Given the description of an element on the screen output the (x, y) to click on. 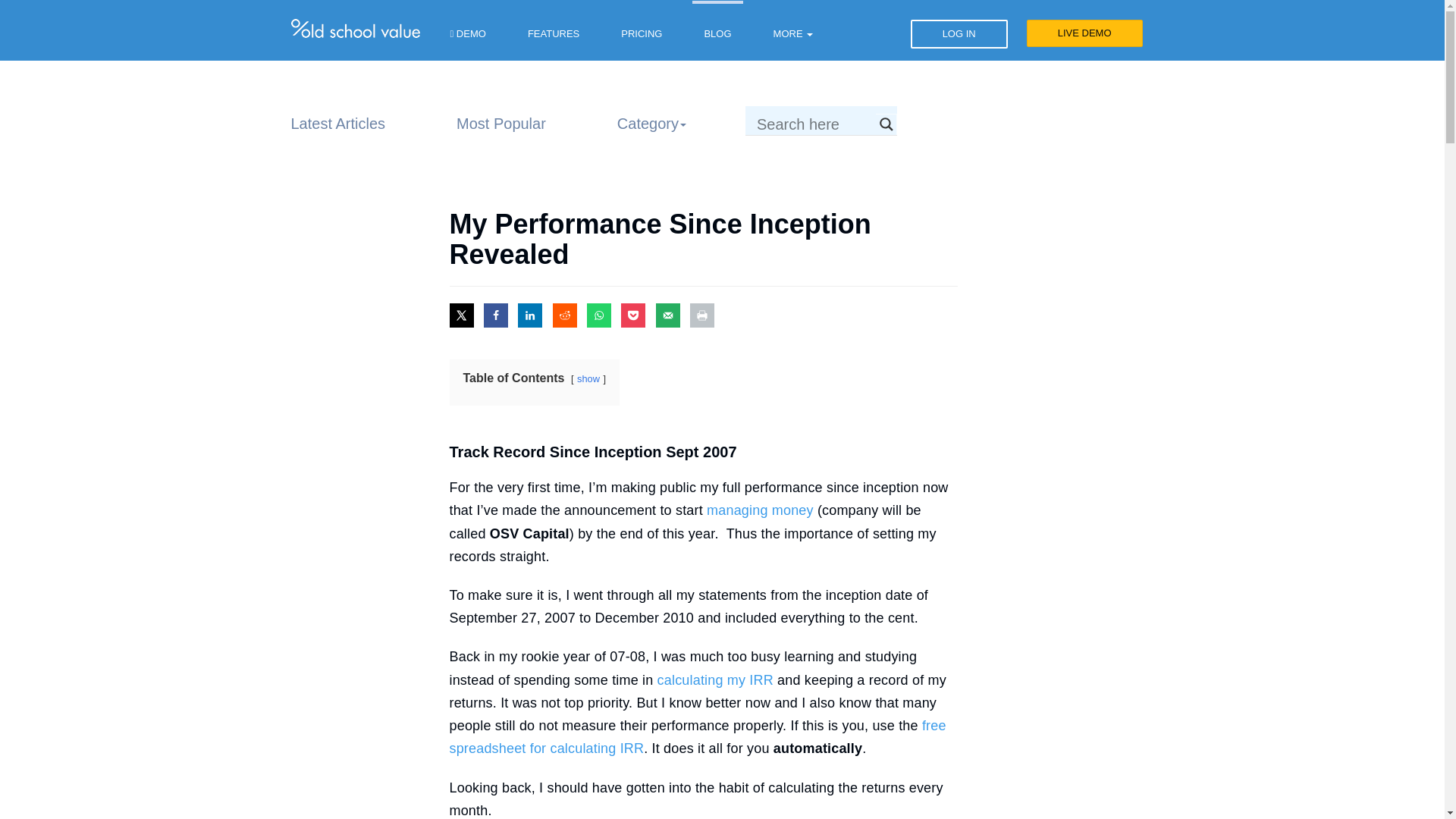
LIVE DEMO (1084, 32)
Share on WhatsApp (598, 315)
Most Popular (500, 123)
calculating IRR (696, 736)
Print this webpage (702, 315)
Share on LinkedIn (529, 315)
show (587, 378)
LOG IN (959, 33)
Category (651, 123)
Share on Reddit (564, 315)
